Given the description of an element on the screen output the (x, y) to click on. 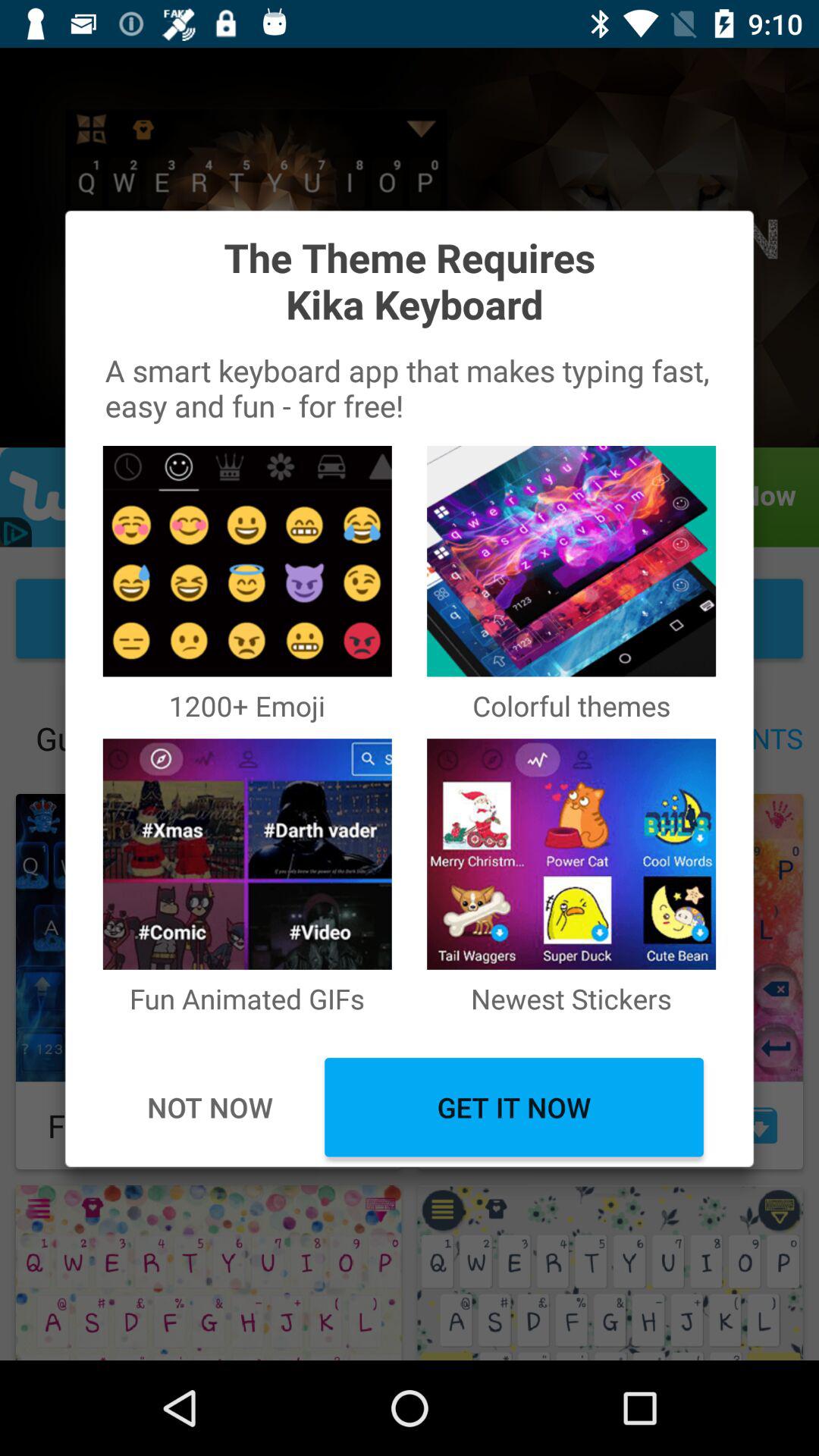
turn off item to the right of the not now item (513, 1106)
